Given the description of an element on the screen output the (x, y) to click on. 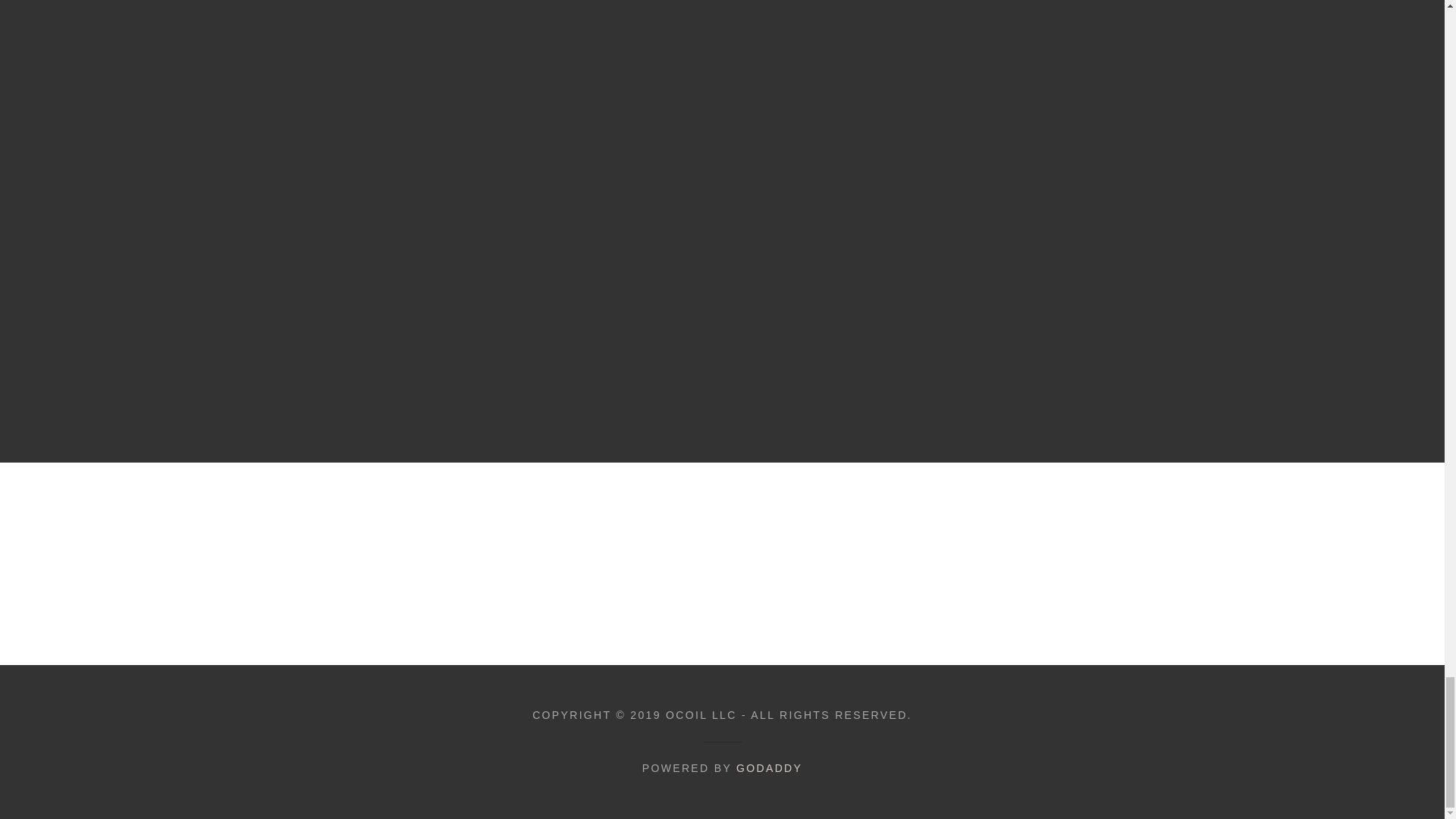
GODADDY (769, 767)
